Given the description of an element on the screen output the (x, y) to click on. 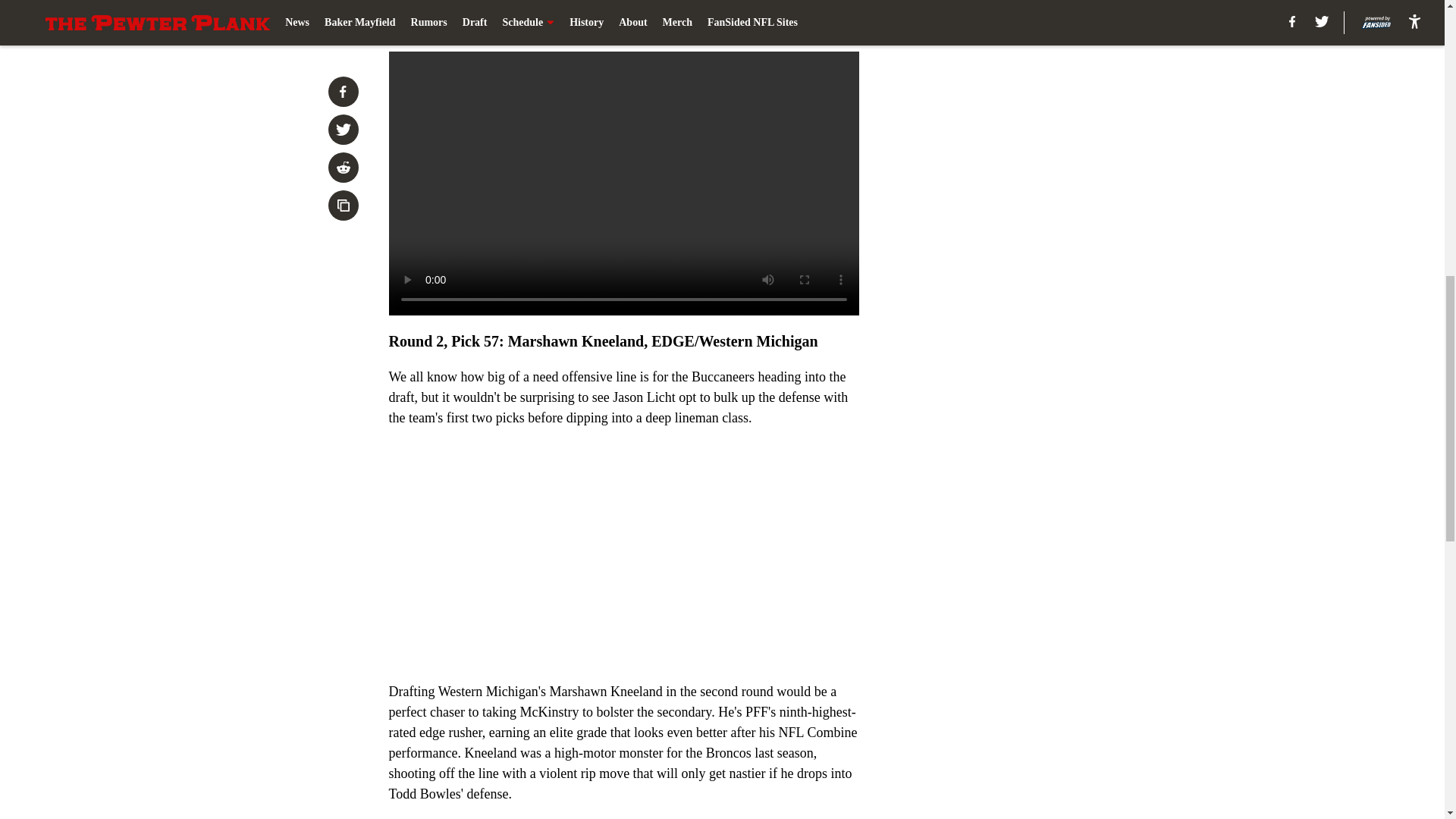
Next (813, 20)
Prev (433, 20)
3rd party ad content (1047, 320)
3rd party ad content (1047, 100)
